Given the description of an element on the screen output the (x, y) to click on. 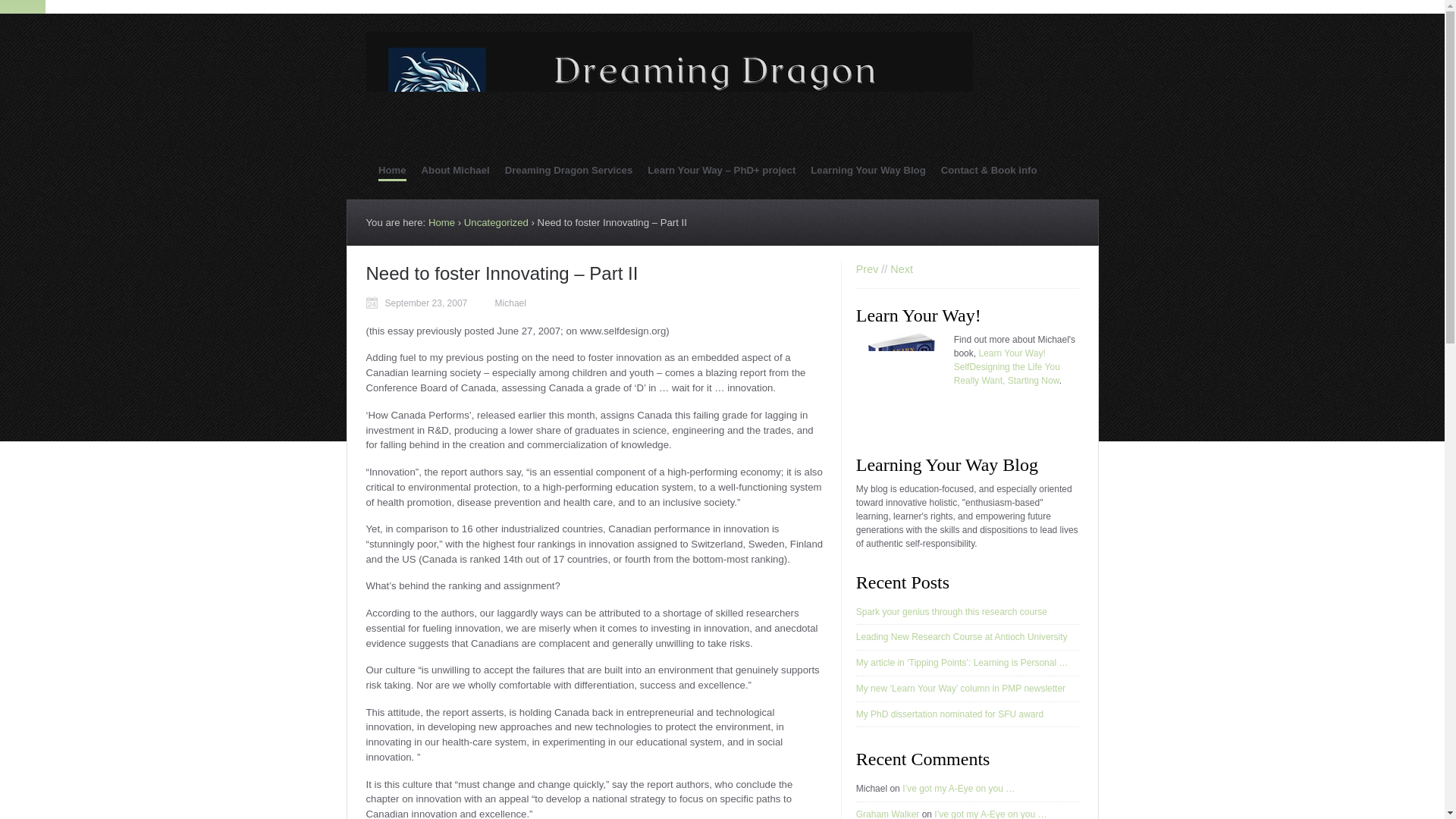
Prev (867, 268)
Graham Walker (888, 814)
Home (392, 171)
Posts by Michael (510, 303)
Learning Your Way Blog (867, 170)
Dreaming Dragon Services (569, 170)
Michael (510, 303)
Spark your genius through this research course (951, 611)
Next (900, 268)
